Given the description of an element on the screen output the (x, y) to click on. 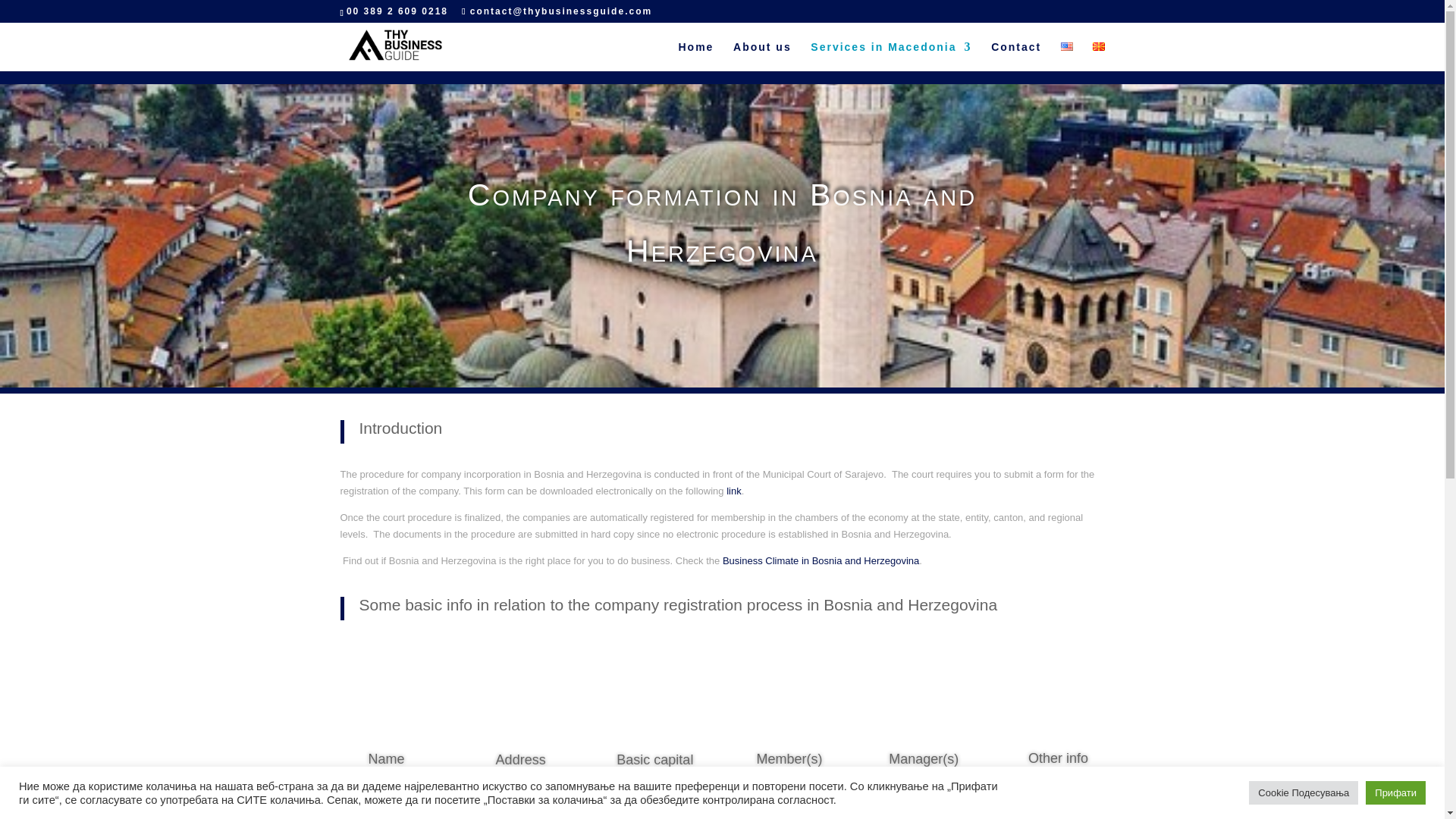
Contact (1016, 56)
About us (762, 56)
Services in Macedonia (890, 56)
Home (695, 56)
